Given the description of an element on the screen output the (x, y) to click on. 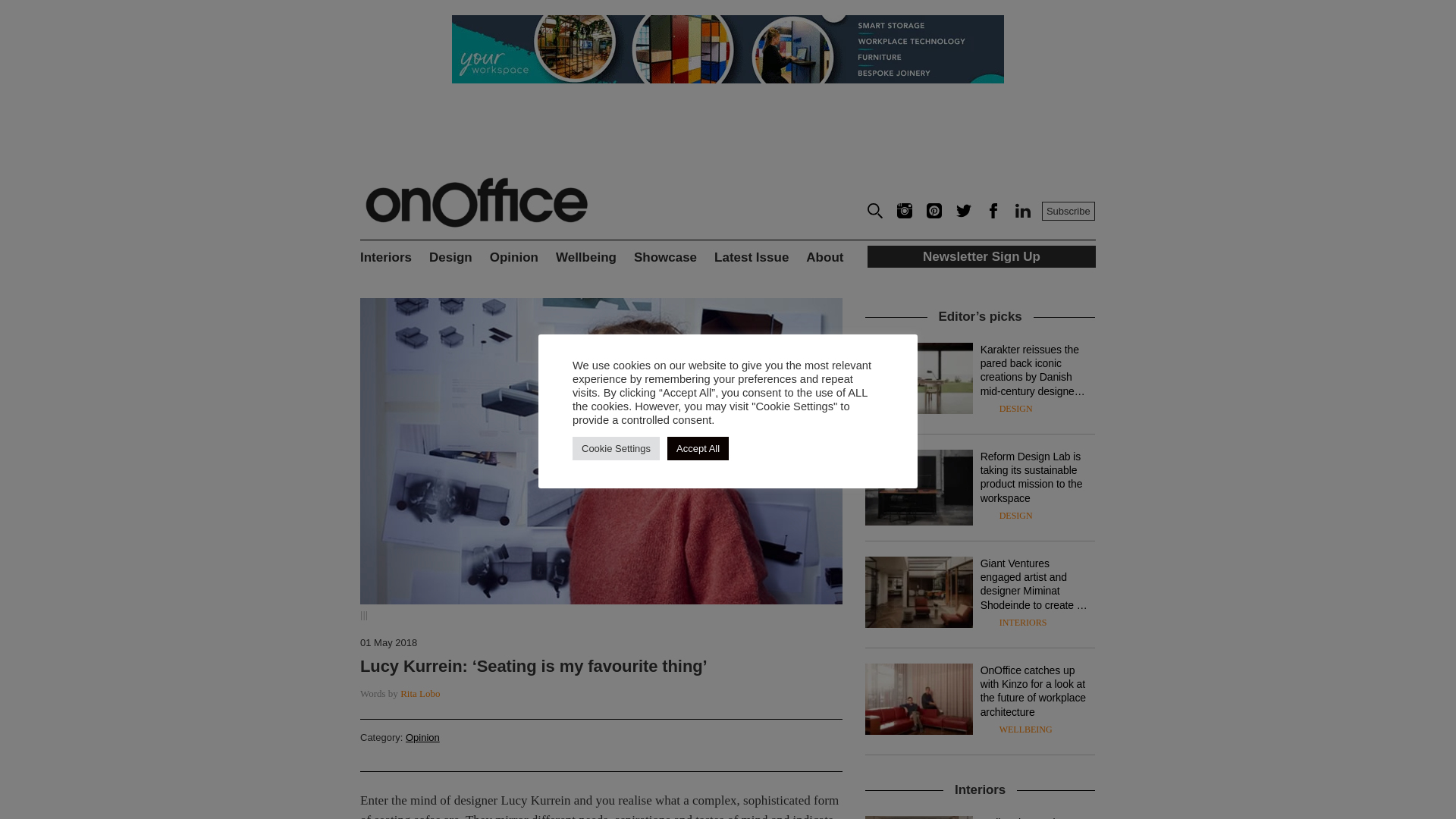
Rita Lobo (419, 693)
Interiors (394, 261)
Wellbeing (594, 261)
Linkedin A solid styled icon from Orion Icon Library. (1022, 214)
Opinion (422, 737)
Subscribe (1068, 211)
Posts by Rita Lobo (419, 693)
DESIGN (1015, 515)
Opinion (522, 261)
About (836, 261)
INTERIORS (1022, 622)
Linkedin A solid styled icon from Orion Icon Library. (1022, 210)
WELLBEING (1025, 728)
Design (459, 261)
DESIGN (1015, 408)
